Given the description of an element on the screen output the (x, y) to click on. 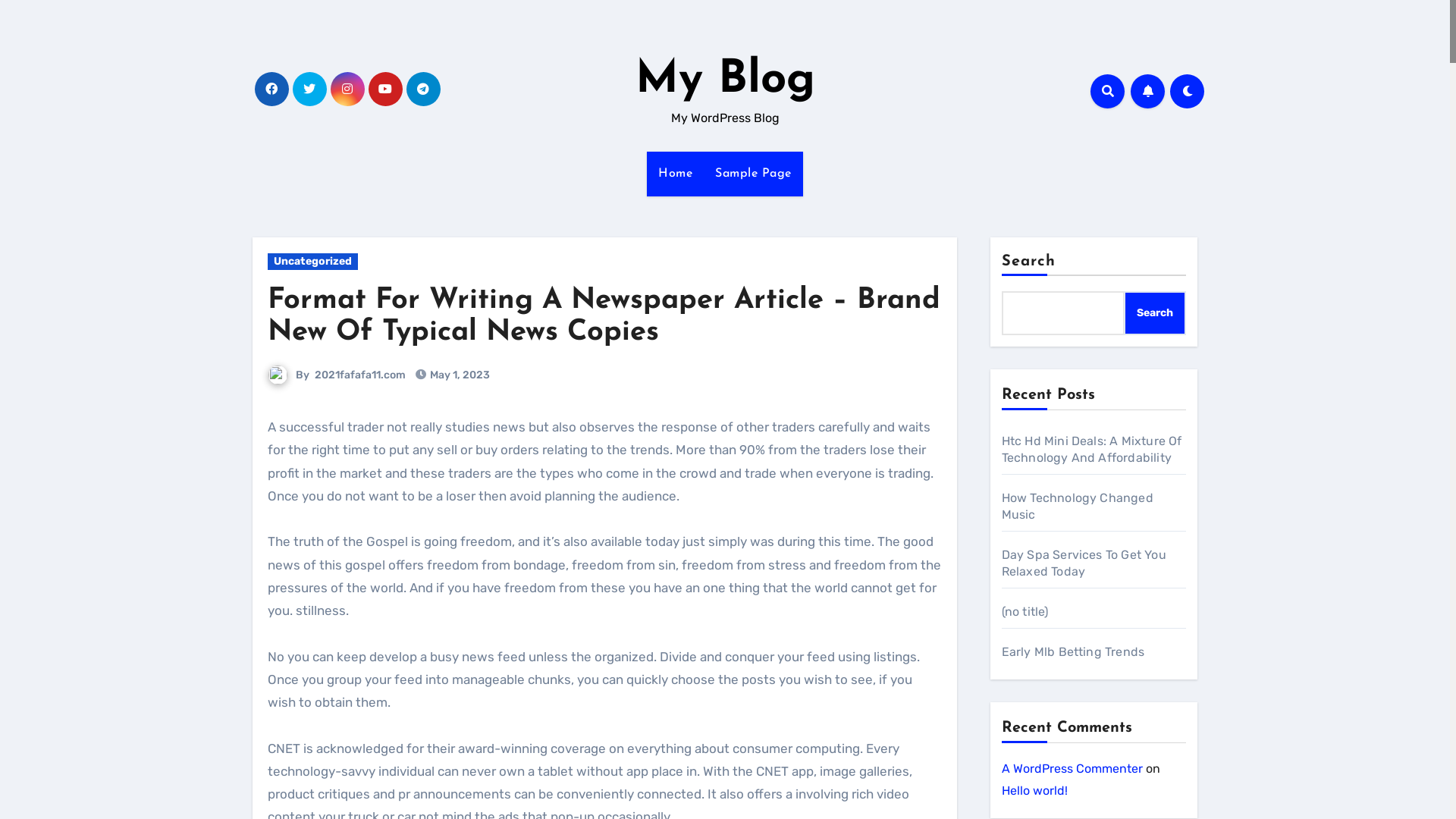
Home Element type: text (674, 173)
Sample Page Element type: text (753, 173)
Hello world! Element type: text (1033, 790)
Uncategorized Element type: text (312, 261)
2021fafafa11.com Element type: text (359, 374)
Day Spa Services To Get You Relaxed Today Element type: text (1083, 562)
(no title) Element type: text (1024, 611)
Htc Hd Mini Deals: A Mixture Of Technology And Affordability Element type: text (1091, 448)
May 1, 2023 Element type: text (459, 374)
My Blog Element type: text (725, 80)
Early Mlb Betting Trends Element type: text (1072, 651)
Search Element type: text (1154, 313)
A WordPress Commenter Element type: text (1071, 768)
How Technology Changed Music Element type: text (1076, 505)
